Given the description of an element on the screen output the (x, y) to click on. 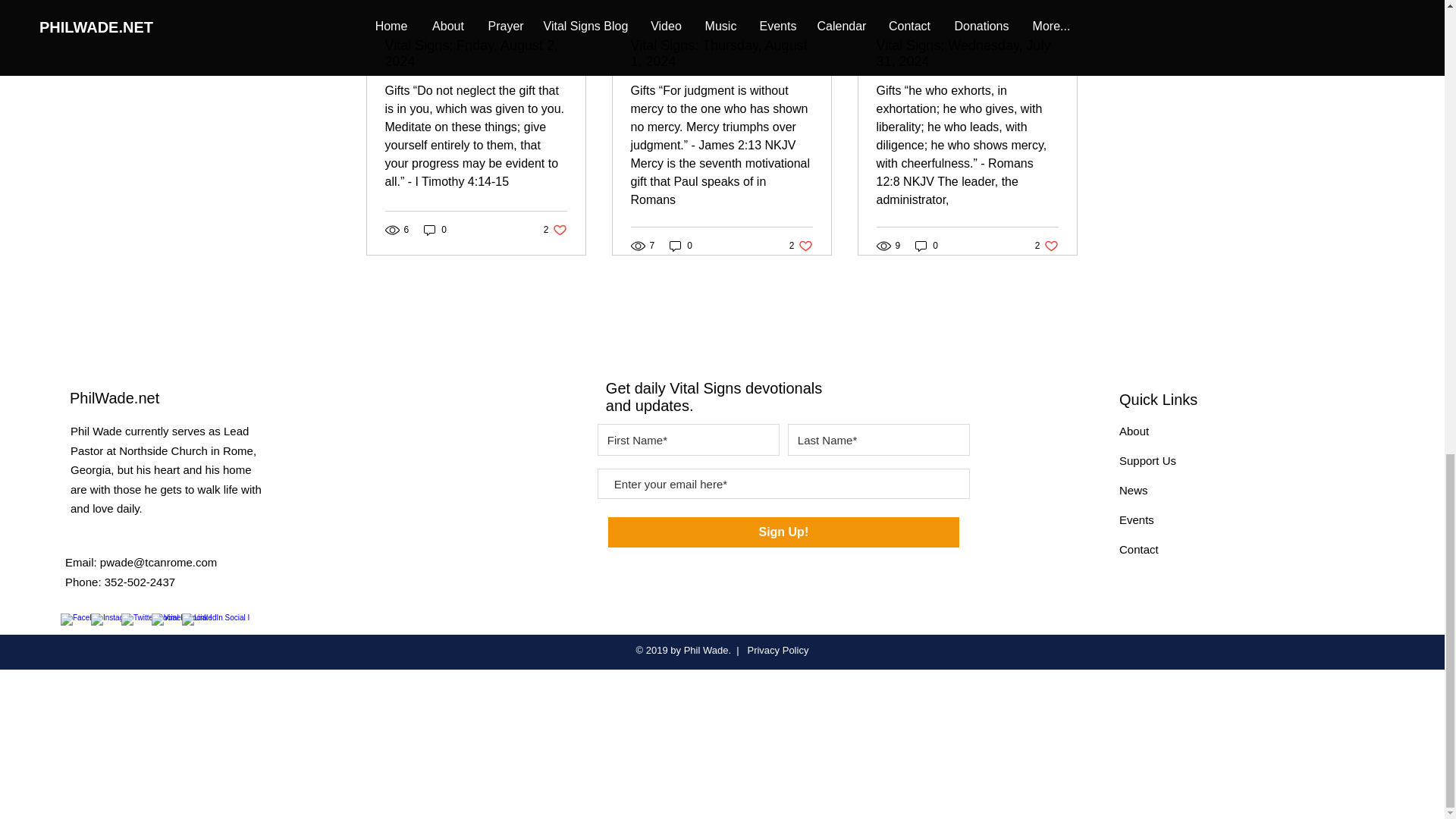
Vital Signs: Friday, August 2, 2024 (476, 53)
0 (435, 228)
0 (681, 246)
Sign Up! (555, 228)
See All (800, 246)
Vital Signs: Thursday, August 1, 2024 (1046, 246)
About (783, 531)
Vital Signs: Wednesday, July 31, 2024 (1061, 2)
0 (721, 53)
Support Us (1133, 431)
